Given the description of an element on the screen output the (x, y) to click on. 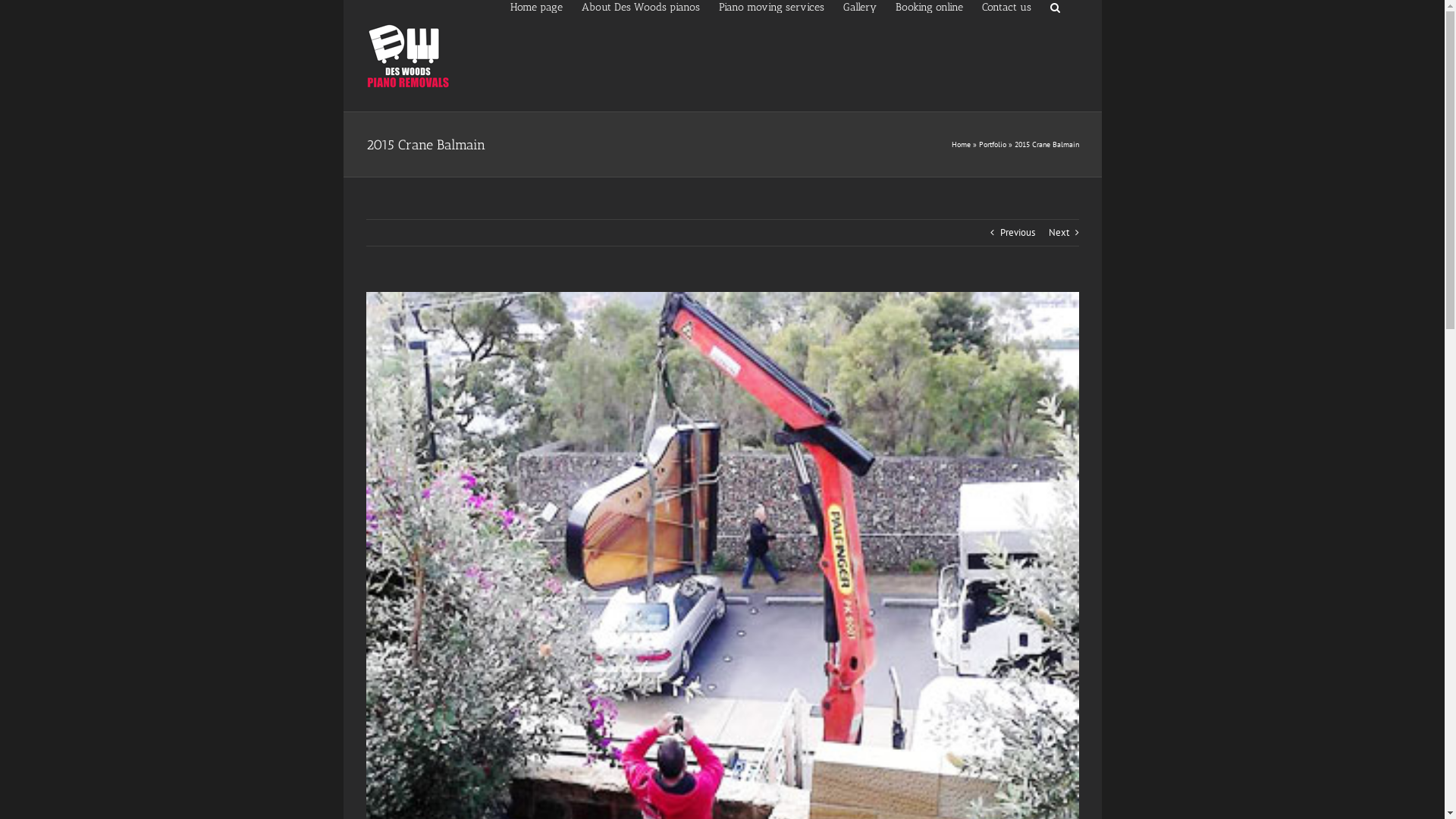
Next Element type: text (1058, 232)
Contact us Element type: text (1005, 6)
Piano moving services Element type: text (771, 6)
Home page Element type: text (535, 6)
Search Element type: hover (1054, 6)
Gallery Element type: text (859, 6)
Booking online Element type: text (928, 6)
About Des Woods pianos Element type: text (639, 6)
Home Element type: text (959, 144)
Portfolio Element type: text (991, 144)
Previous Element type: text (1016, 232)
